Given the description of an element on the screen output the (x, y) to click on. 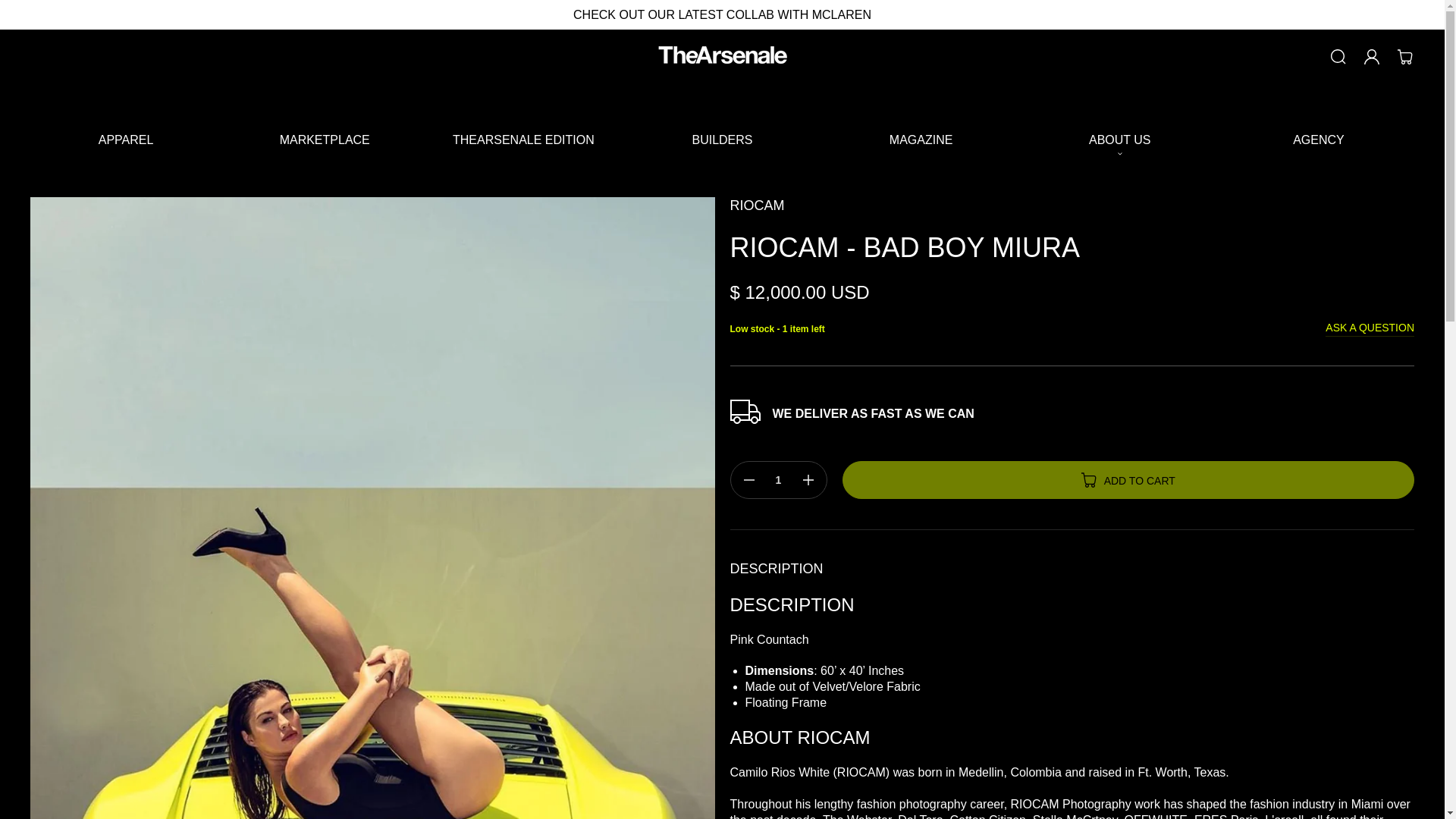
MARKETPLACE (324, 139)
SKIP TO CONTENT (29, 18)
1 (778, 479)
Log in (1372, 55)
APPAREL (125, 139)
Cart (1405, 55)
THEARSENALE EDITION (523, 139)
CHECK OUT OUR LATEST COLLAB WITH MCLAREN (721, 14)
